Given the description of an element on the screen output the (x, y) to click on. 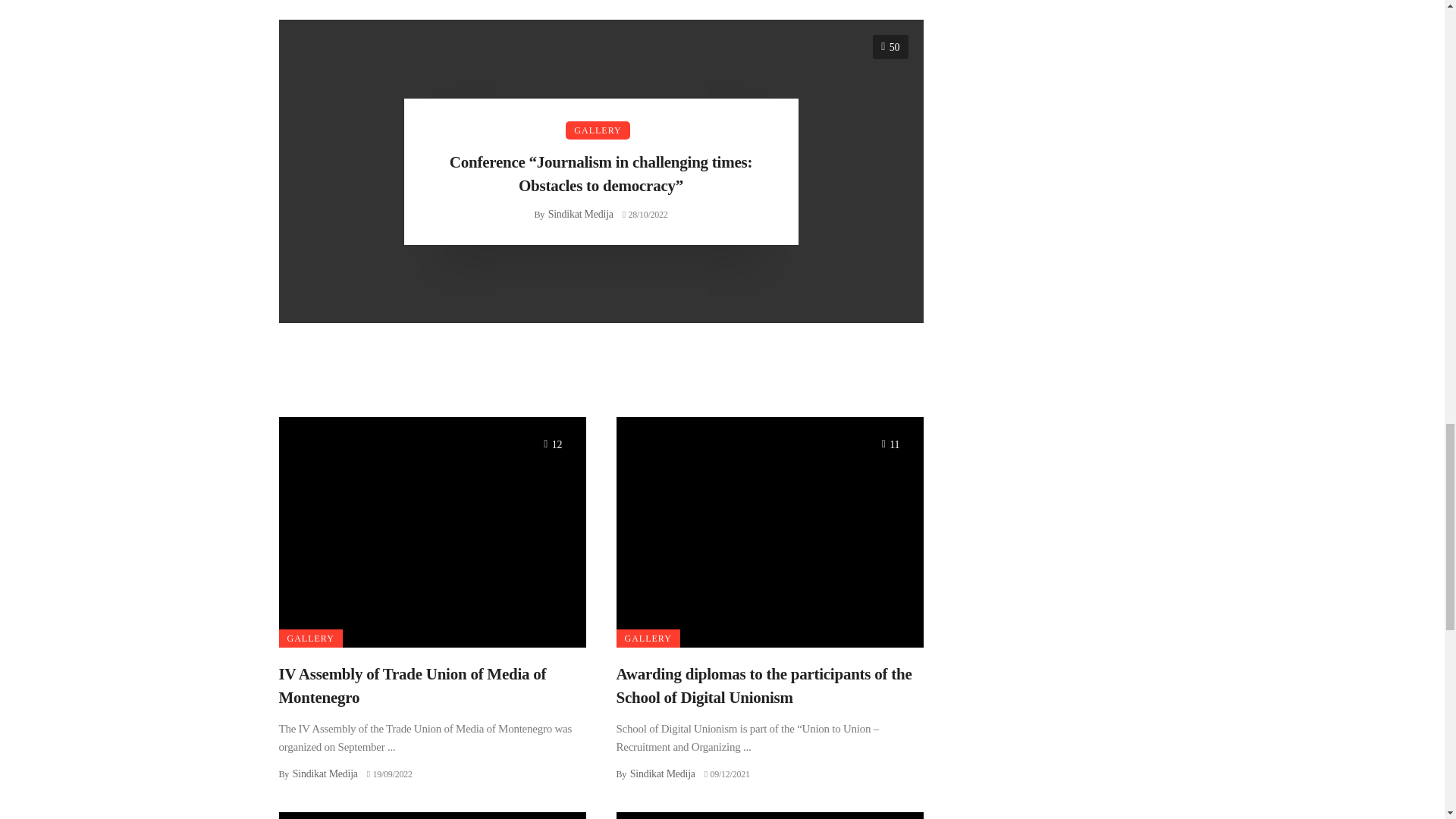
December 9, 2021 at 1:12 pm (726, 774)
September 19, 2022 at 2:08 pm (389, 774)
October 28, 2022 at 7:08 pm (645, 214)
